Given the description of an element on the screen output the (x, y) to click on. 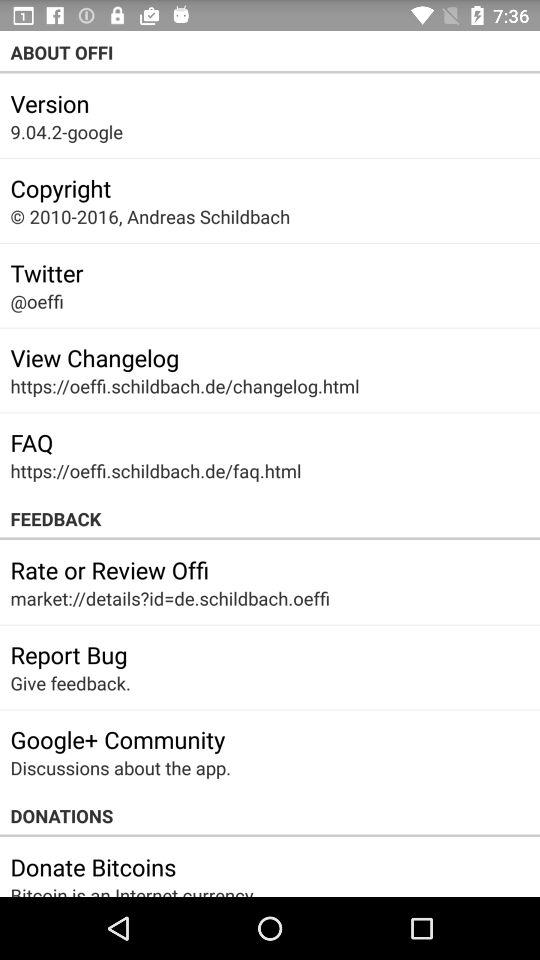
turn off the item above bitcoin is an icon (93, 867)
